Given the description of an element on the screen output the (x, y) to click on. 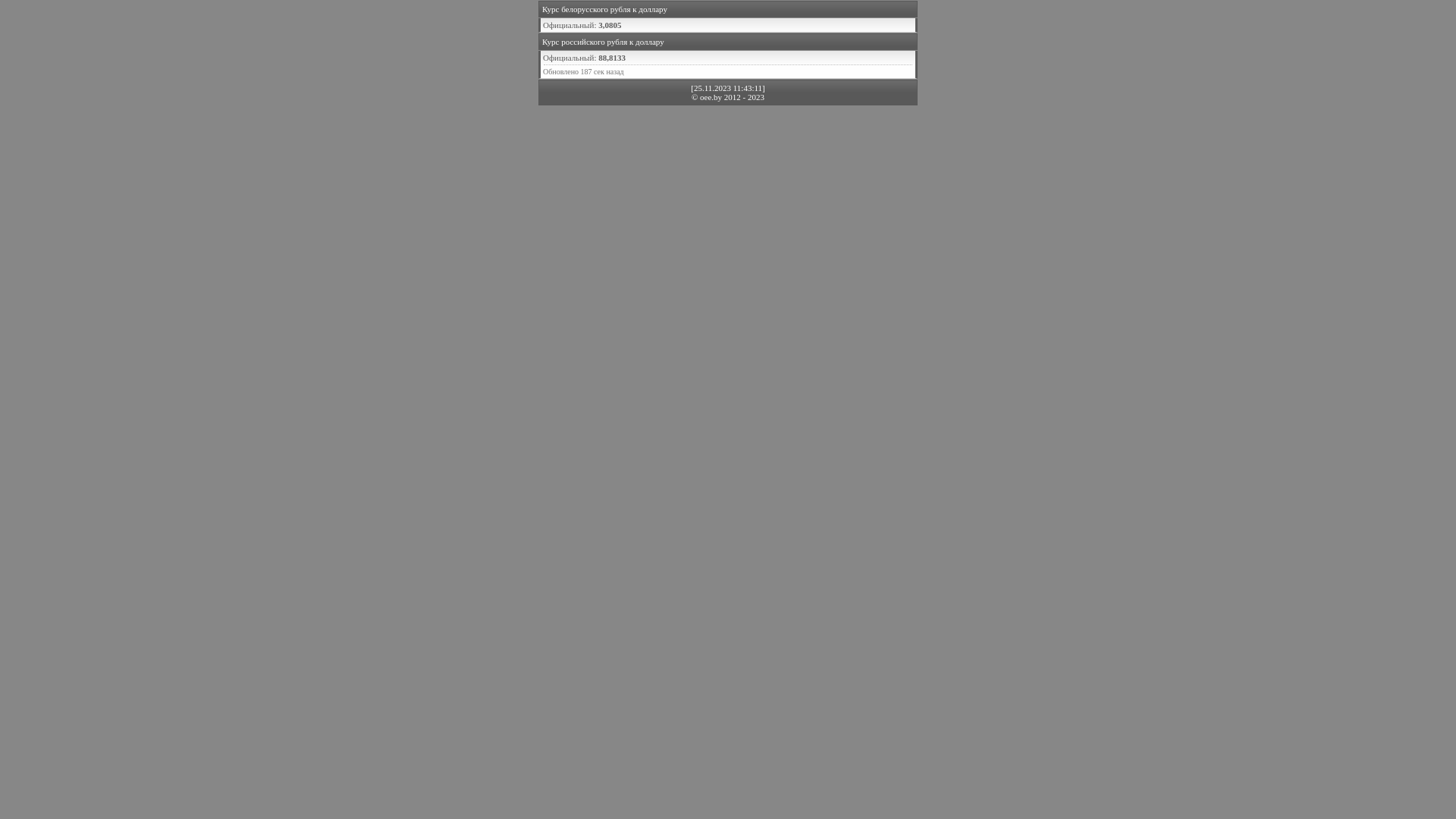
oee.by Element type: text (710, 96)
